Given the description of an element on the screen output the (x, y) to click on. 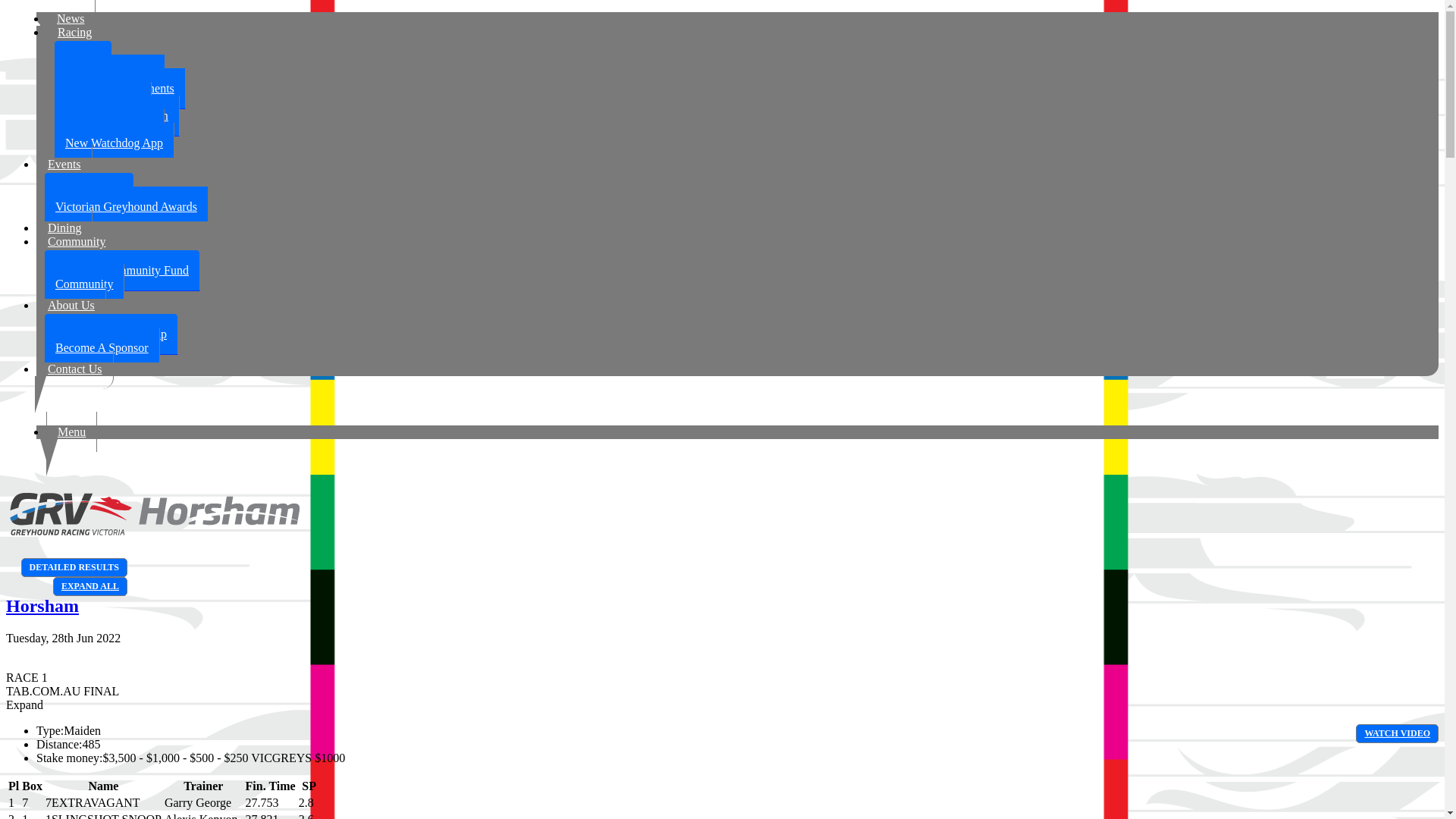
WATCH VIDEO Element type: text (1396, 733)
Contact Us Element type: text (74, 368)
Horsham Element type: text (42, 605)
About Us Element type: text (71, 305)
Victorian Greyhound Awards Element type: text (125, 206)
Track Announcements Element type: text (119, 88)
About Us/Membership Element type: text (110, 333)
Horsham Community Fund Element type: text (121, 270)
Racing This Week Element type: text (109, 74)
Community Element type: text (76, 241)
Track Statistics Element type: text (102, 101)
Horsham Greyhound Racing Club Element type: hover (152, 535)
Racing Element type: text (74, 32)
EXPAND ALL Element type: text (90, 586)
Latest Trial Times Element type: text (108, 129)
Trialling Information Element type: text (116, 115)
Results Element type: text (82, 60)
Events Element type: text (64, 164)
New Watchdog App Element type: text (113, 142)
Become A Sponsor Element type: text (101, 347)
Community Element type: text (83, 283)
Menu Element type: text (71, 431)
Dining Element type: text (64, 227)
Horsham Cup Element type: text (88, 192)
